Given the description of an element on the screen output the (x, y) to click on. 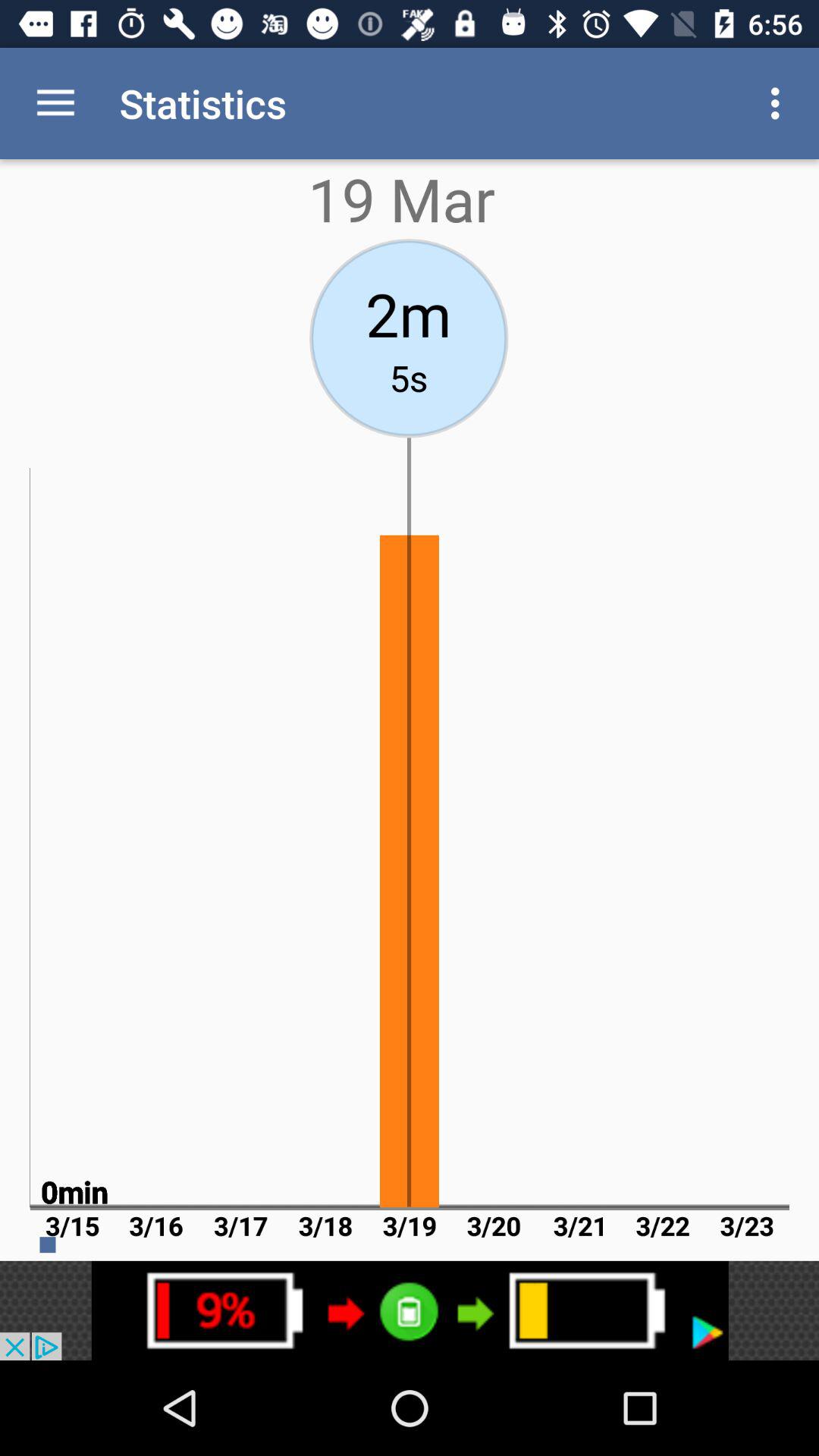
advertisement (409, 1310)
